Given the description of an element on the screen output the (x, y) to click on. 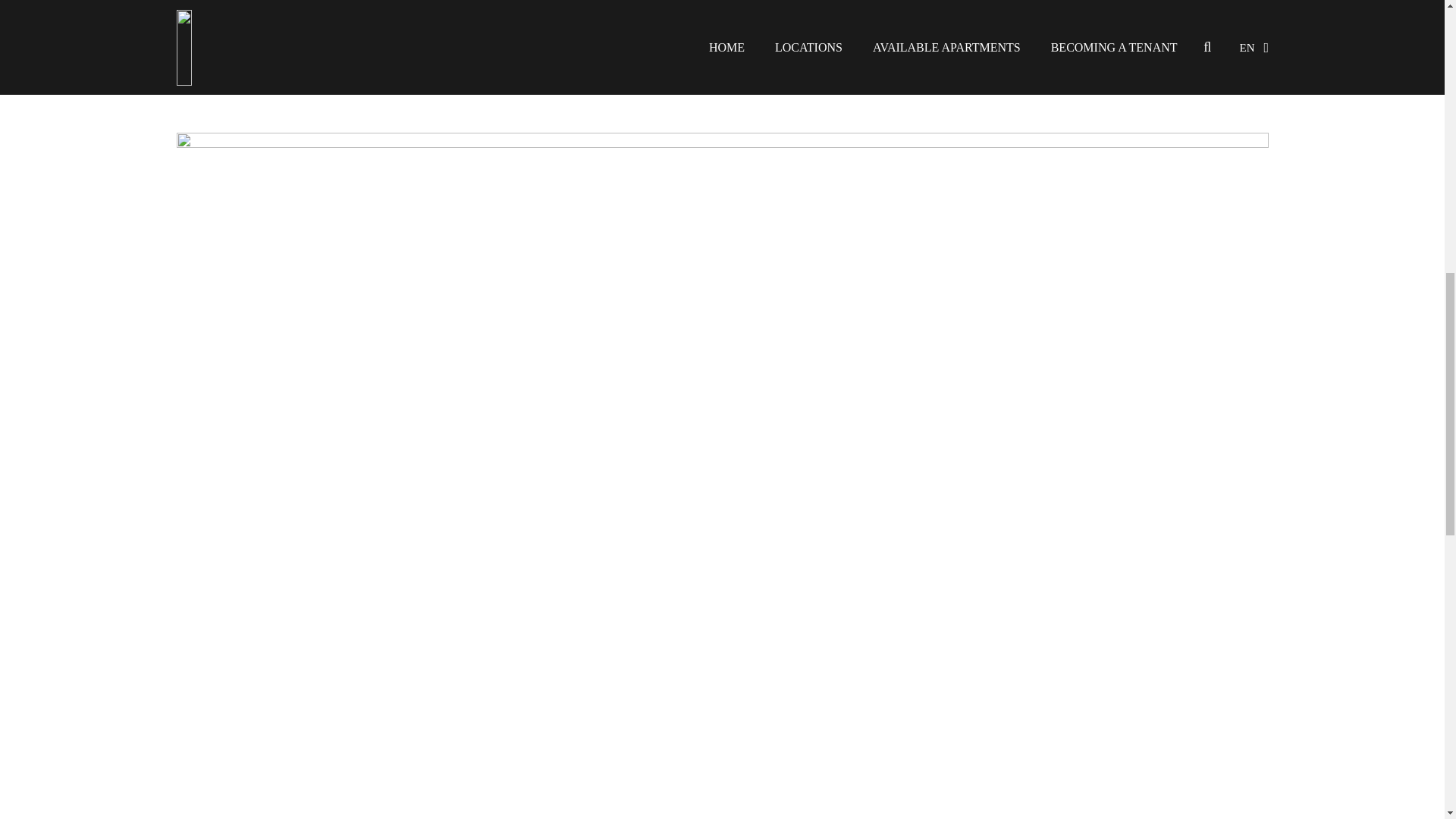
Back to top (1413, 26)
